Given the description of an element on the screen output the (x, y) to click on. 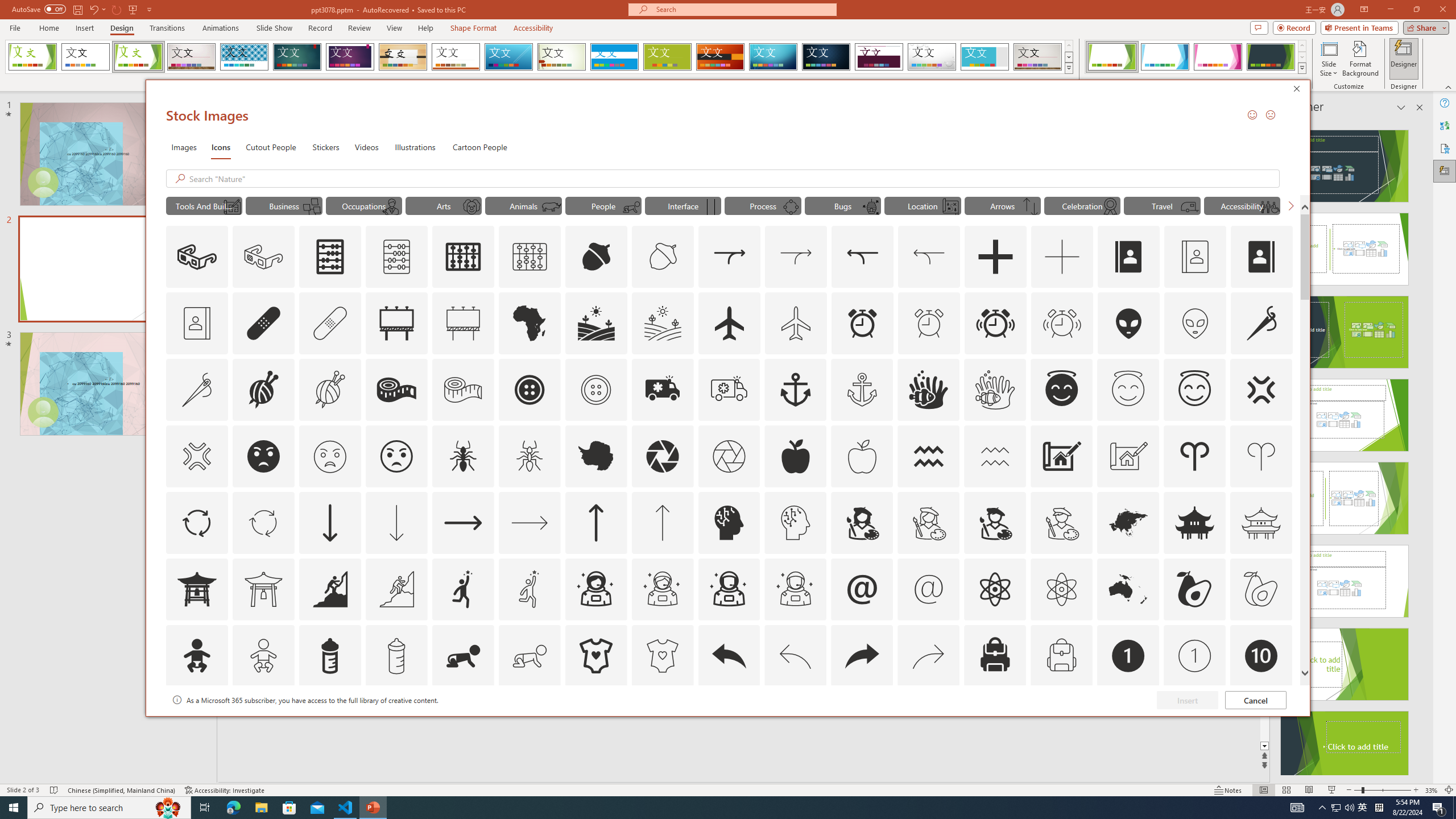
Illustrations (415, 146)
outline (1194, 389)
AutomationID: Icons_AlienFace_M (1194, 323)
AutomationID: Icons_AlienFace (1128, 323)
AutomationID: Icons_Agriculture (596, 323)
AutomationID: Icons_JudgeMale_M (391, 206)
